Given the description of an element on the screen output the (x, y) to click on. 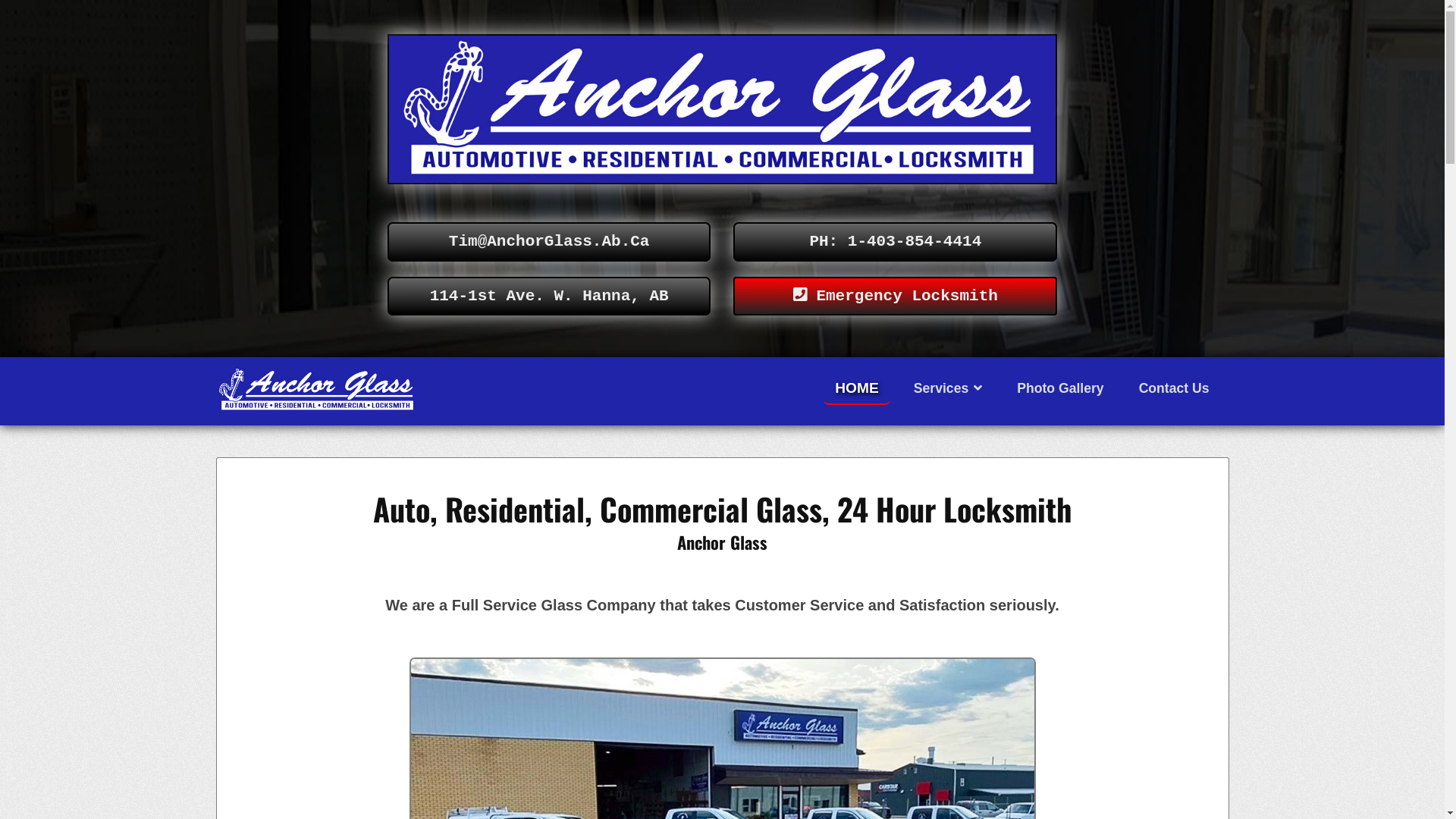
HOME Element type: text (856, 388)
Photo Gallery Element type: text (1059, 387)
Emergency Locksmith Element type: text (895, 296)
Services Element type: text (947, 387)
PH: 1-403-854-4414 Element type: text (895, 241)
Contact Us Element type: text (1173, 387)
Tim@AnchorGlass.Ab.Ca Element type: text (549, 241)
114-1st Ave. W. Hanna, AB Element type: text (549, 296)
